Given the description of an element on the screen output the (x, y) to click on. 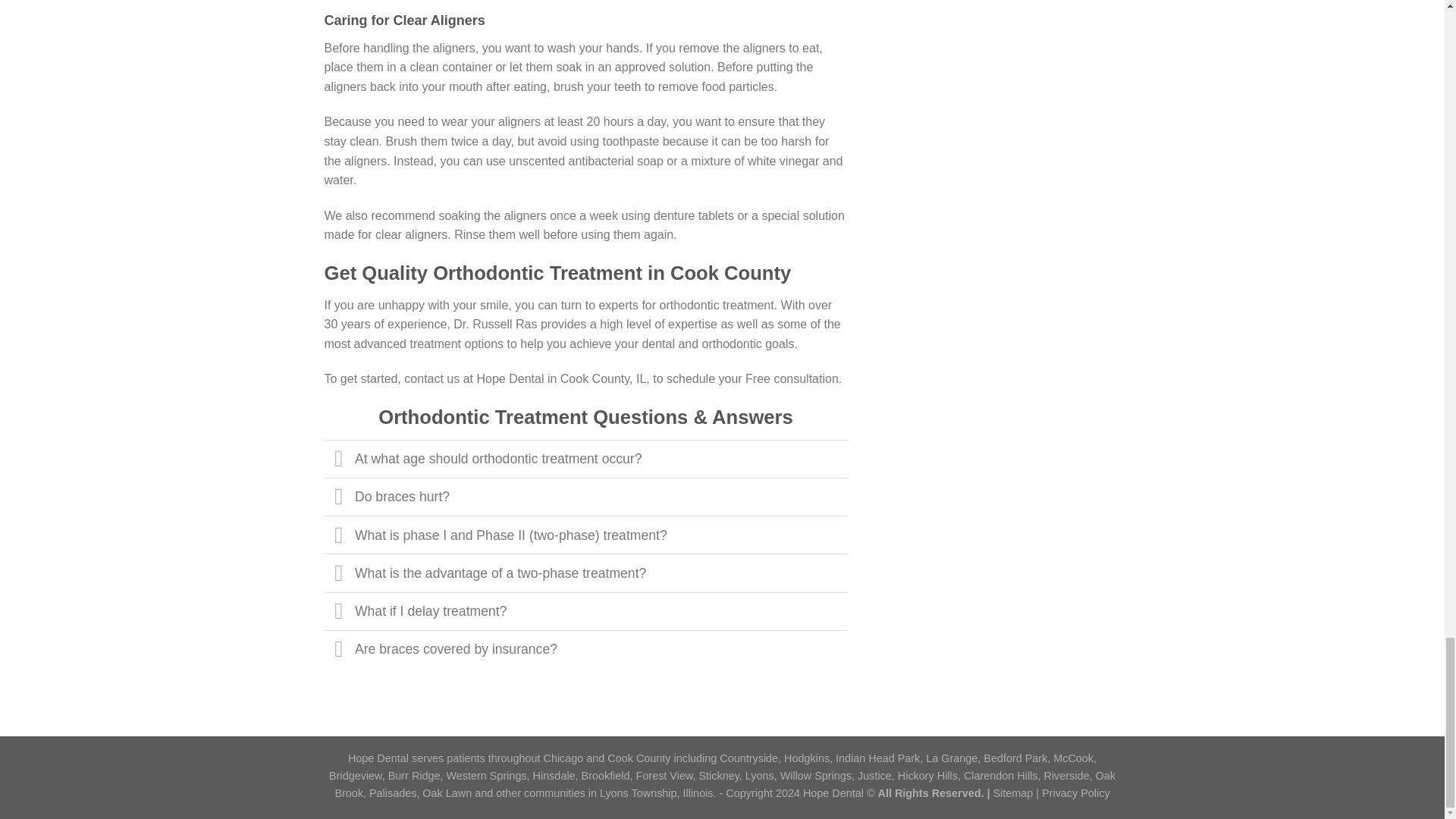
What if I delay treatment? (585, 610)
Do braces hurt? (585, 496)
Are braces covered by insurance? (585, 648)
What is the advantage of a two-phase treatment? (585, 572)
At what age should orthodontic treatment occur? (585, 458)
